Given the description of an element on the screen output the (x, y) to click on. 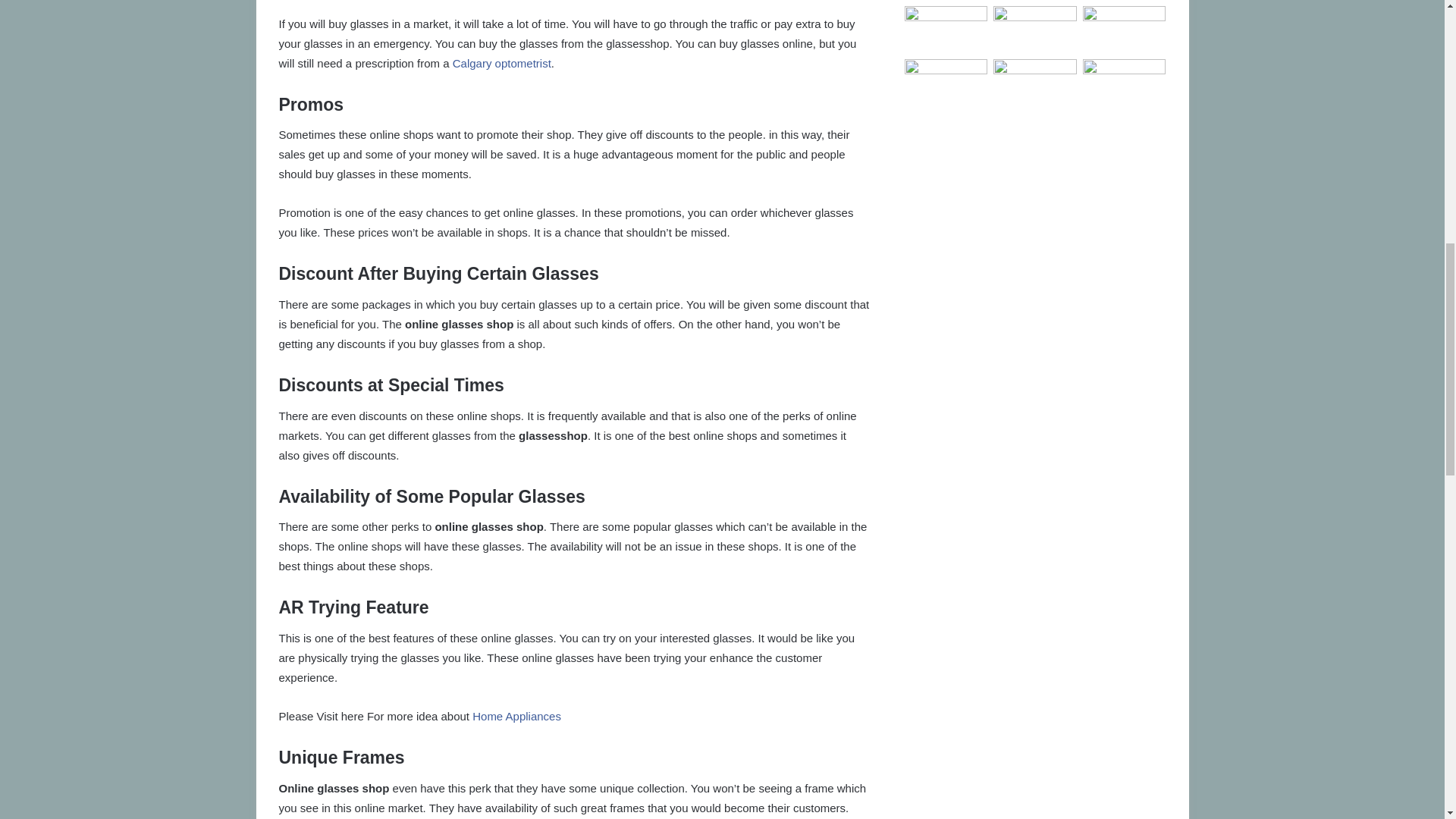
Home Appliances (515, 716)
Calgary optometrist (501, 62)
